Given the description of an element on the screen output the (x, y) to click on. 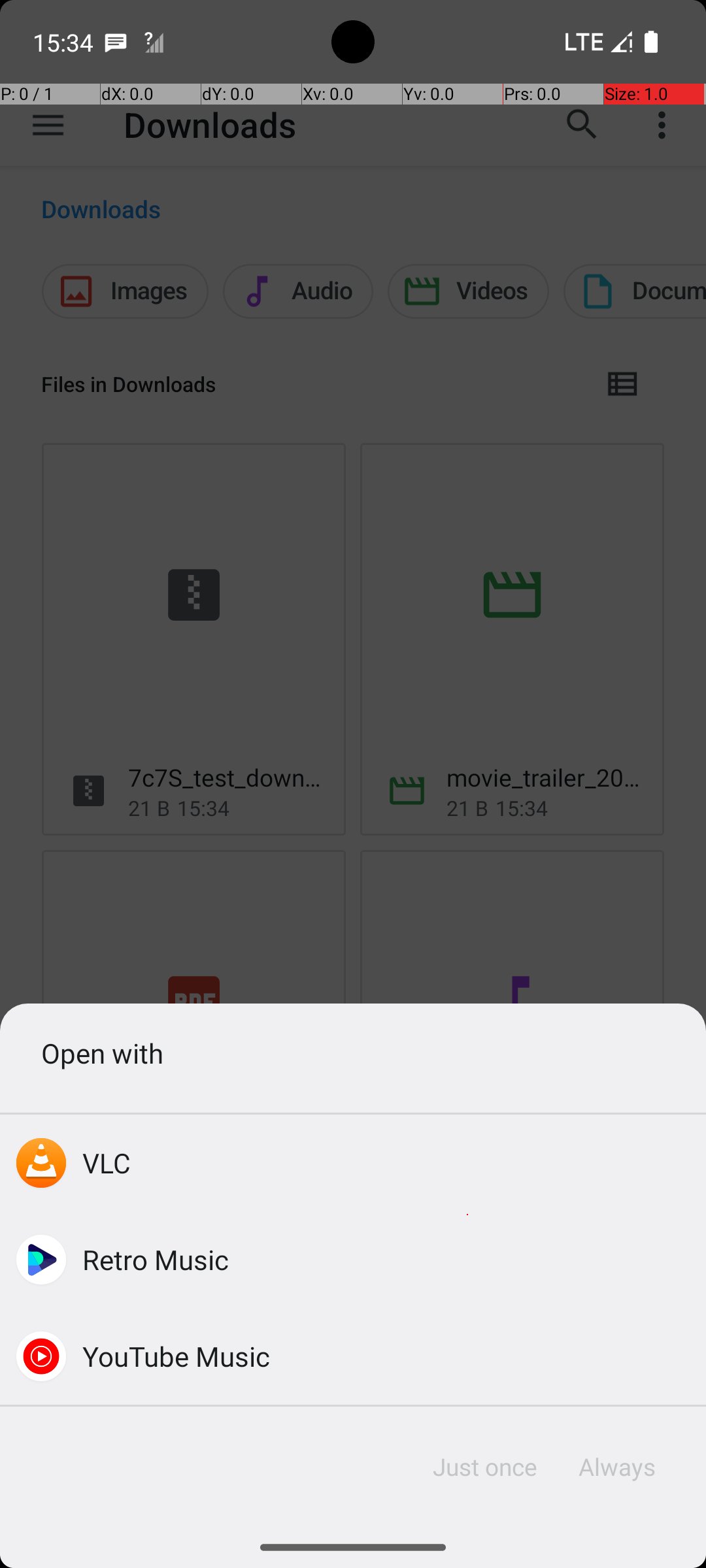
Open with Element type: android.widget.TextView (352, 1052)
YouTube Music Element type: android.widget.TextView (175, 1355)
